Given the description of an element on the screen output the (x, y) to click on. 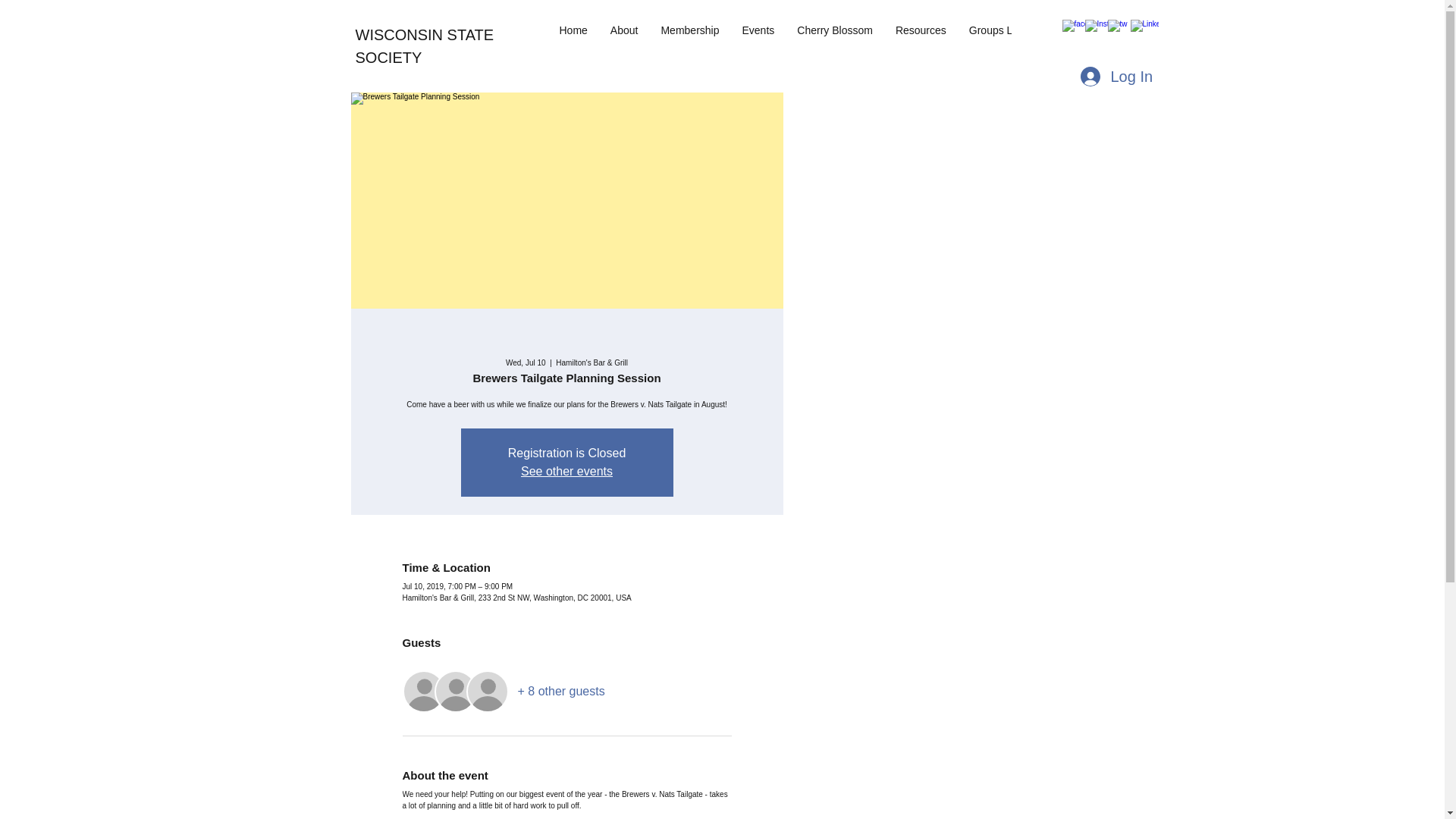
Groups List (996, 34)
About (623, 34)
Events (758, 34)
Membership (689, 34)
Cherry Blossom (834, 34)
Home (572, 34)
See other events (566, 471)
Log In (1106, 76)
Resources (920, 34)
